Given the description of an element on the screen output the (x, y) to click on. 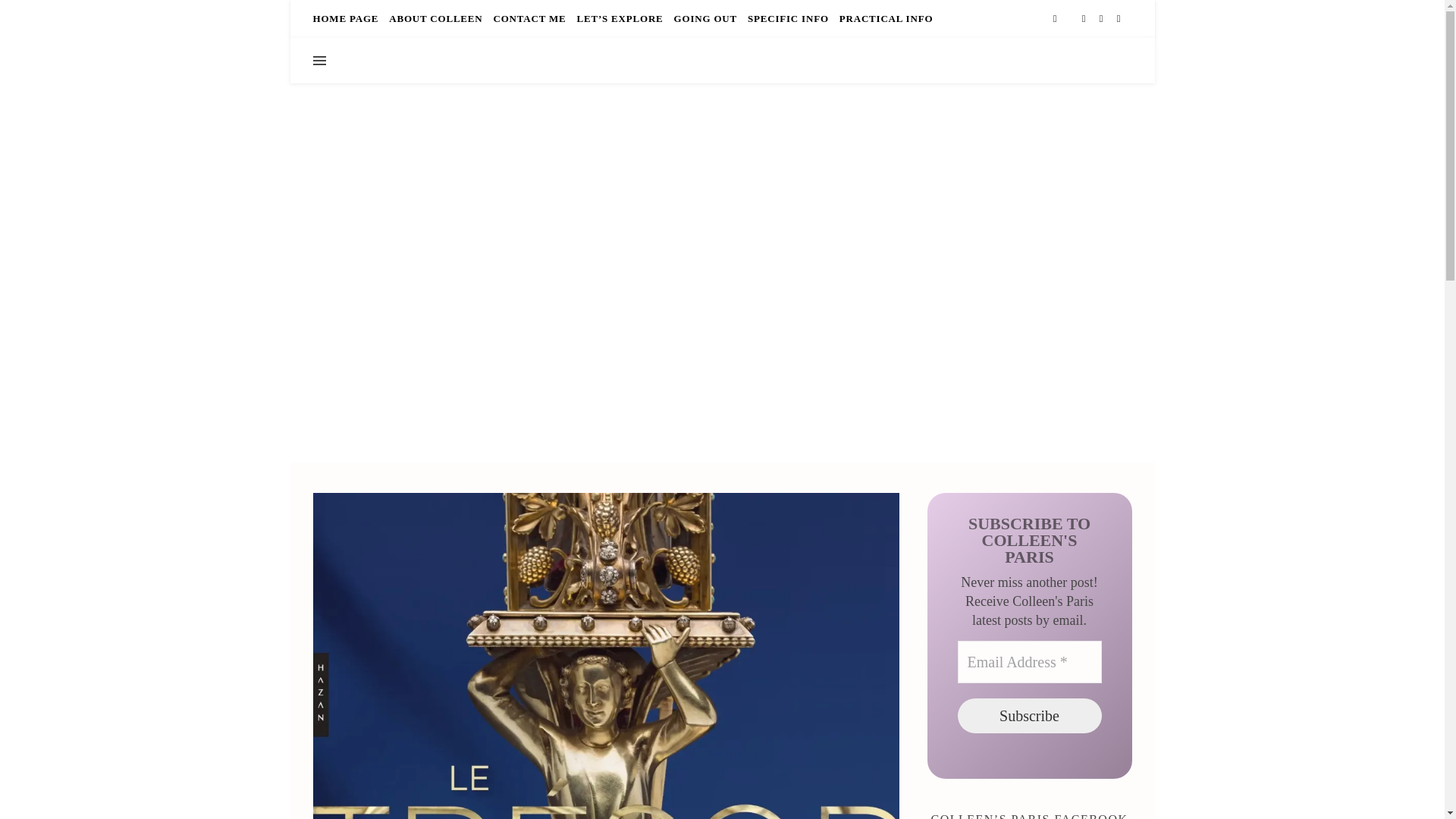
HOME PAGE (347, 18)
SPECIFIC INFO (788, 18)
CONTACT ME (529, 18)
ABOUT COLLEEN (435, 18)
Email Address (1028, 661)
GOING OUT (705, 18)
Subscribe (1028, 715)
Subscribe (1028, 715)
PRACTICAL INFO (884, 18)
